Given the description of an element on the screen output the (x, y) to click on. 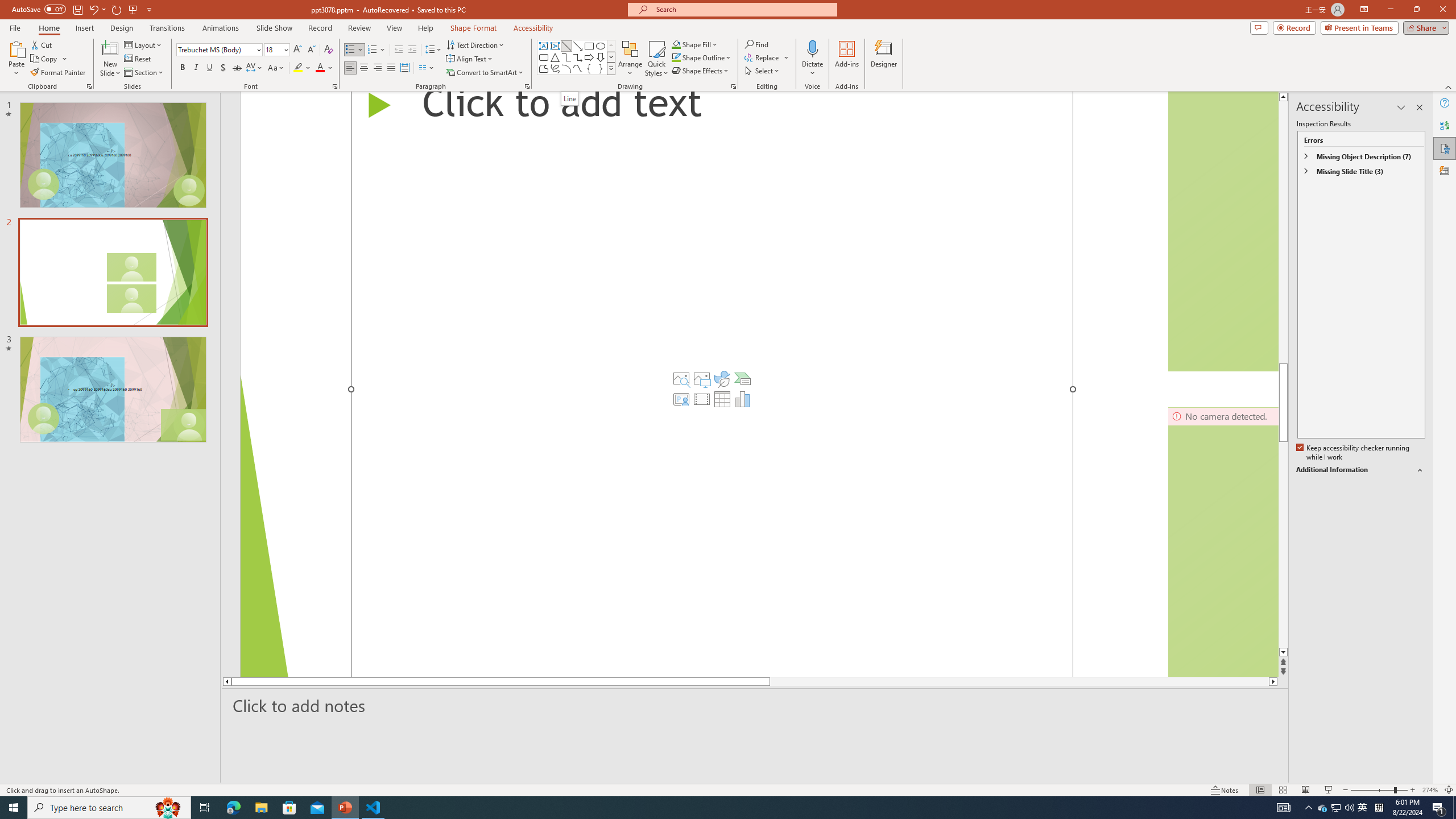
Numbering (376, 49)
New Slide (110, 58)
New Slide (110, 48)
Paragraph... (526, 85)
Decrease Font Size (310, 49)
Keep accessibility checker running while I work (1353, 452)
Line (566, 45)
Decrease Indent (398, 49)
Convert to SmartArt (485, 72)
Vertical Text Box (554, 45)
Isosceles Triangle (554, 57)
Shape Fill Dark Green, Accent 2 (675, 44)
